Given the description of an element on the screen output the (x, y) to click on. 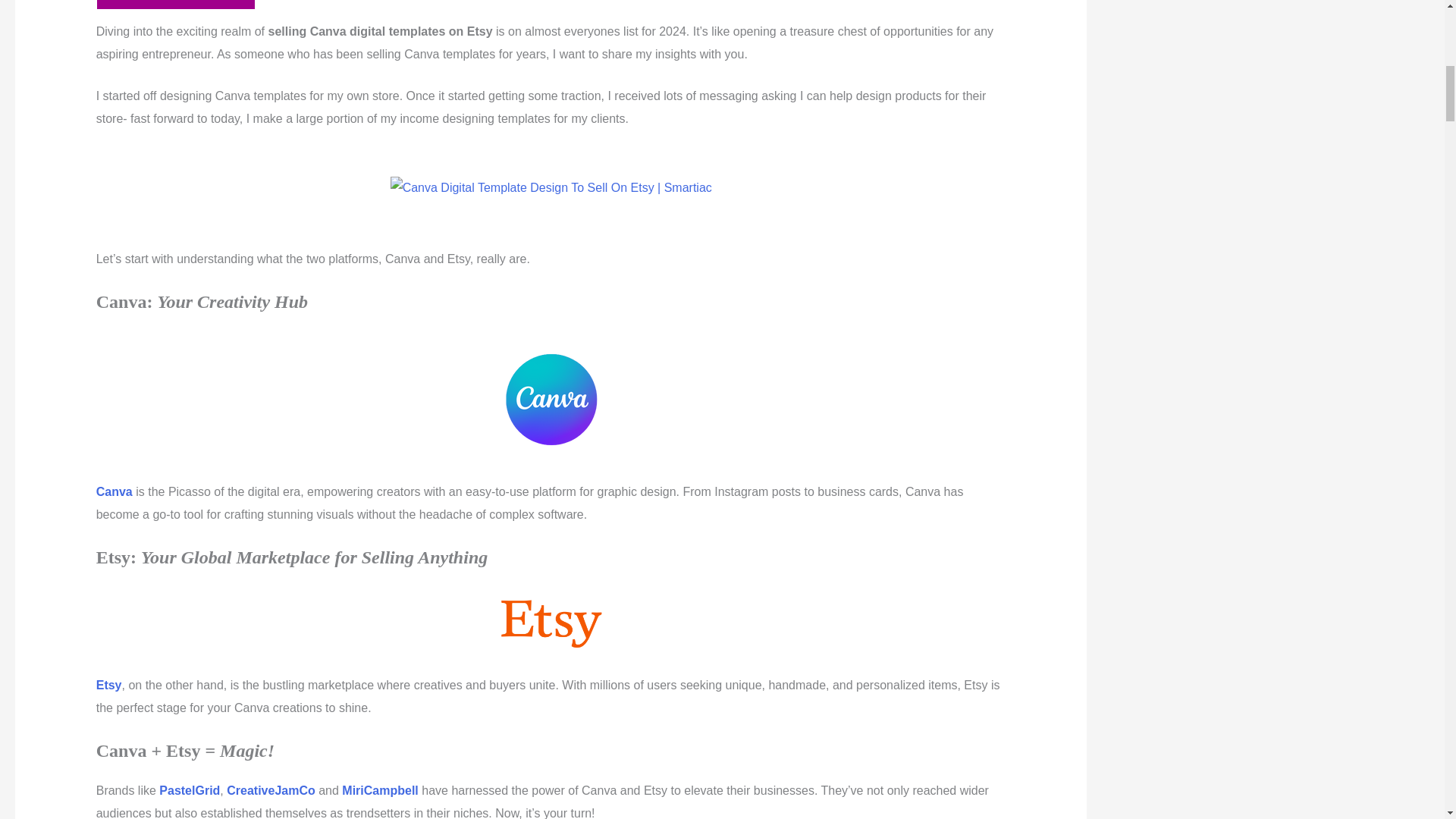
Etsy (109, 684)
MiriCampbell (379, 789)
CreativeJamCo (271, 789)
PastelGrid (188, 789)
Canva (114, 491)
